Given the description of an element on the screen output the (x, y) to click on. 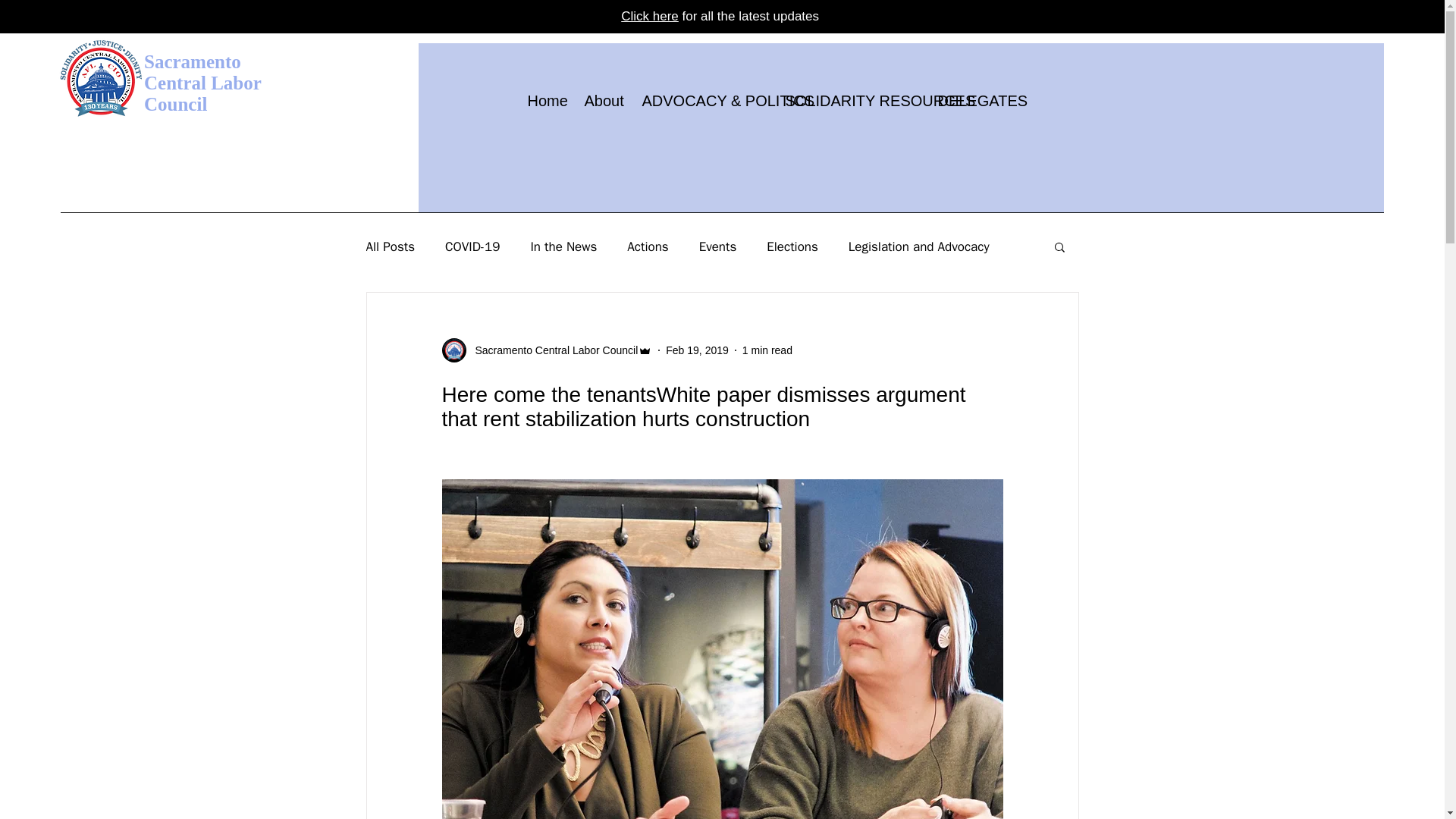
Sacramento Central Labor Council (551, 350)
All Posts (389, 246)
DELEGATES (967, 100)
Actions (647, 246)
Legislation and Advocacy (919, 246)
Feb 19, 2019 (697, 349)
About (601, 100)
Events (717, 246)
Home (543, 100)
1 min read (767, 349)
